Given the description of an element on the screen output the (x, y) to click on. 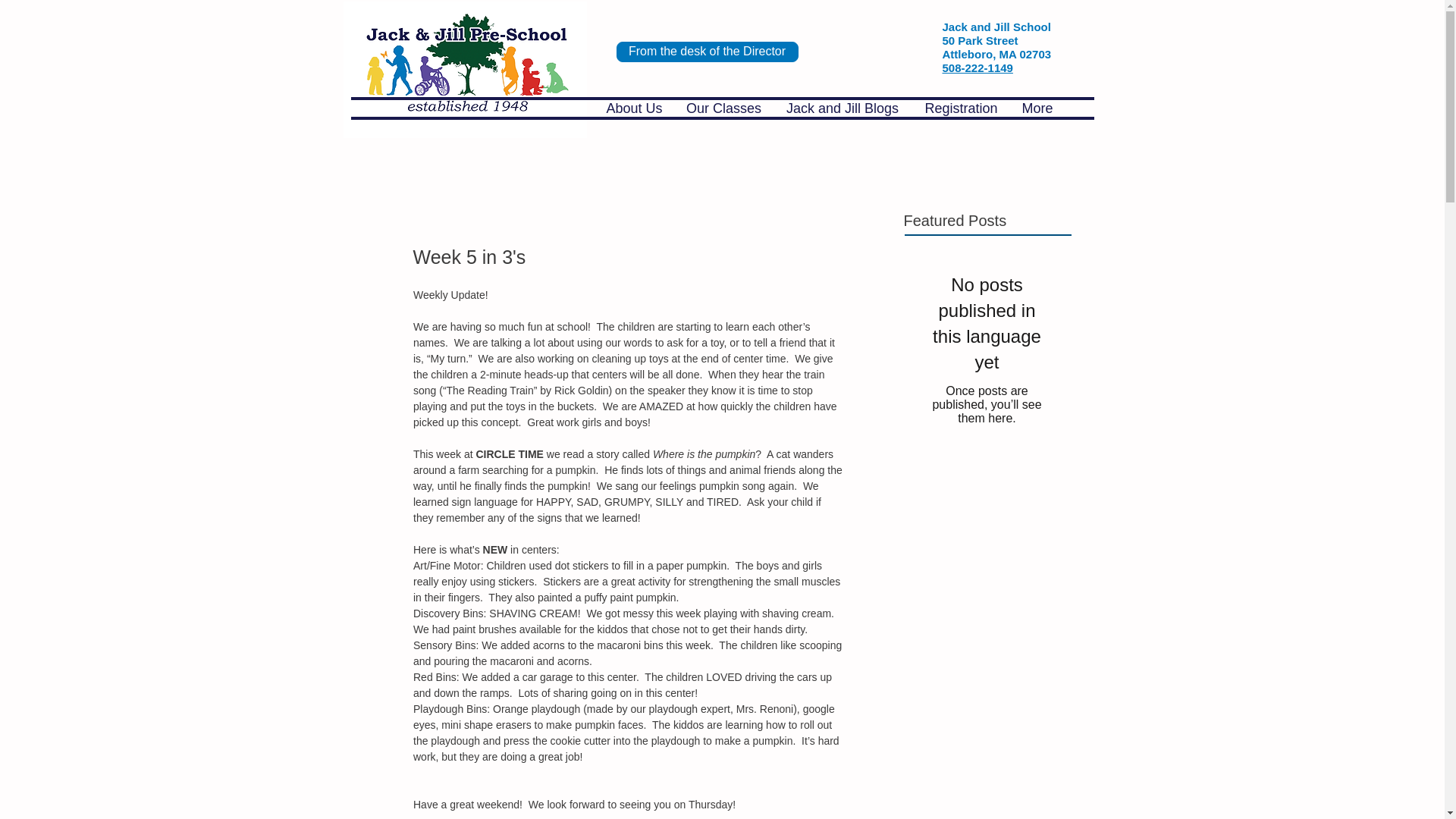
Jack and Jill Blogs (842, 108)
508-222-1149 (976, 67)
Registration (961, 108)
Our Classes (724, 108)
From the desk of the Director (706, 51)
About Us (634, 108)
